Given the description of an element on the screen output the (x, y) to click on. 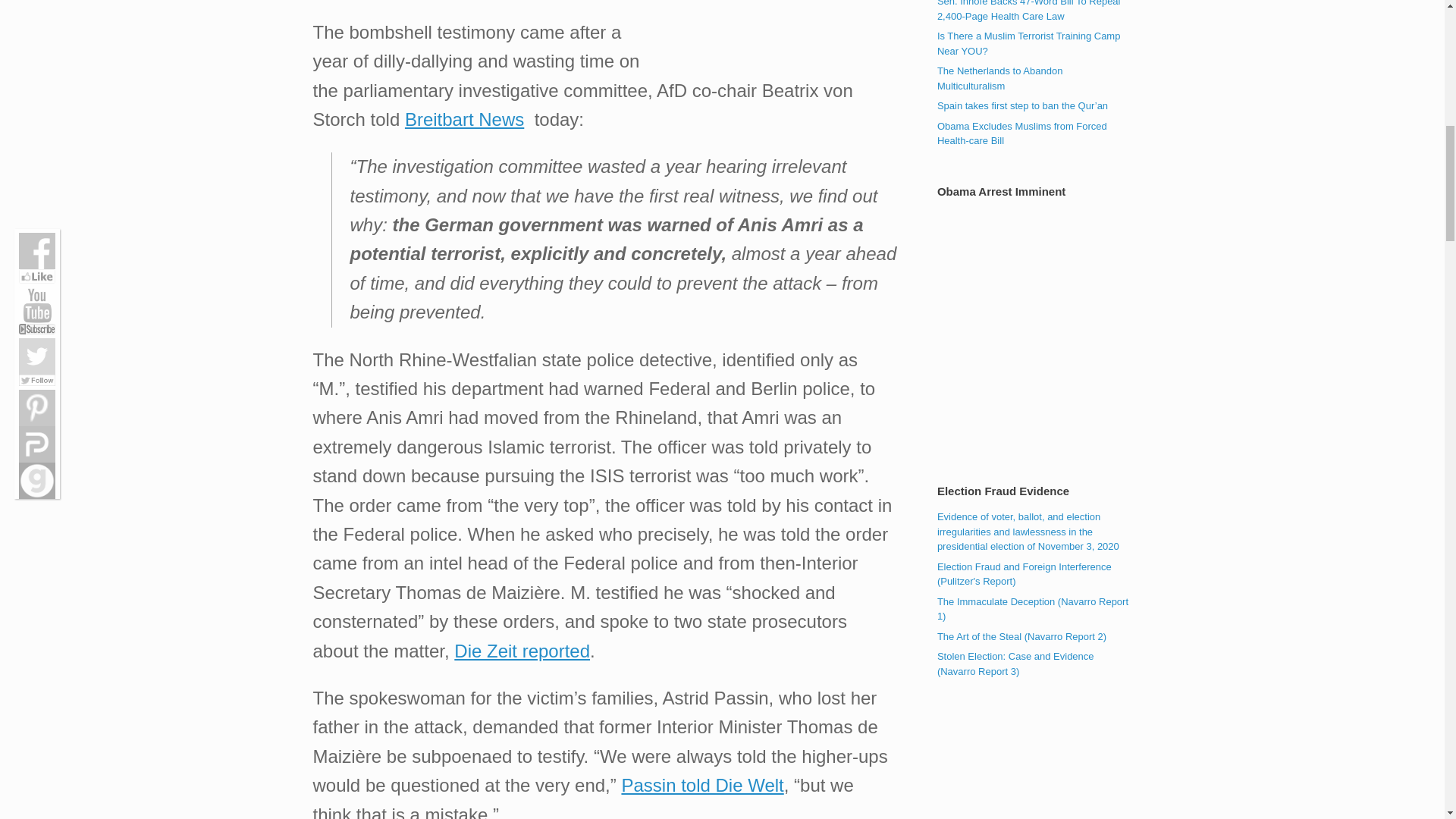
March 24, 2010 (1029, 11)
Die Zeit reported (521, 650)
Passin told Die Welt (702, 784)
Breitbart News (464, 118)
